Given the description of an element on the screen output the (x, y) to click on. 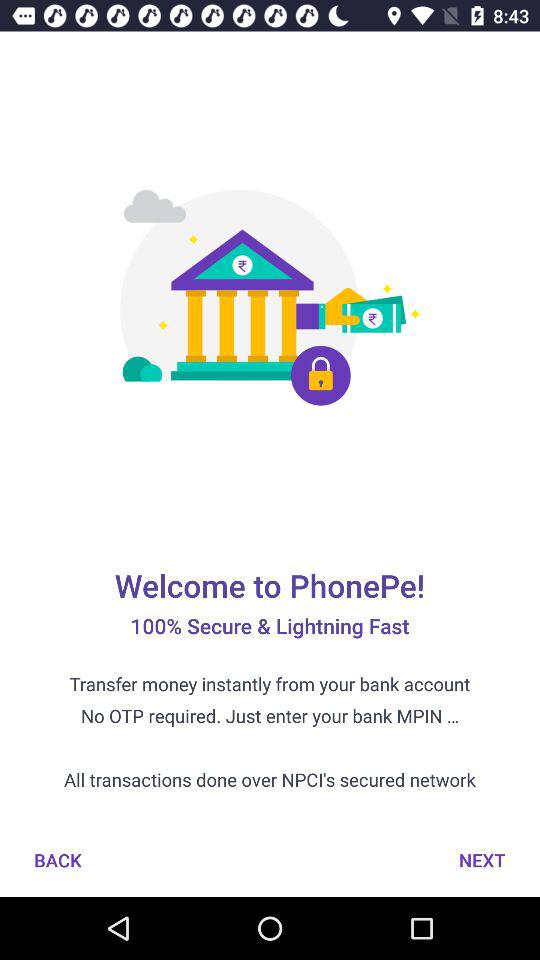
press item at the bottom left corner (57, 859)
